Given the description of an element on the screen output the (x, y) to click on. 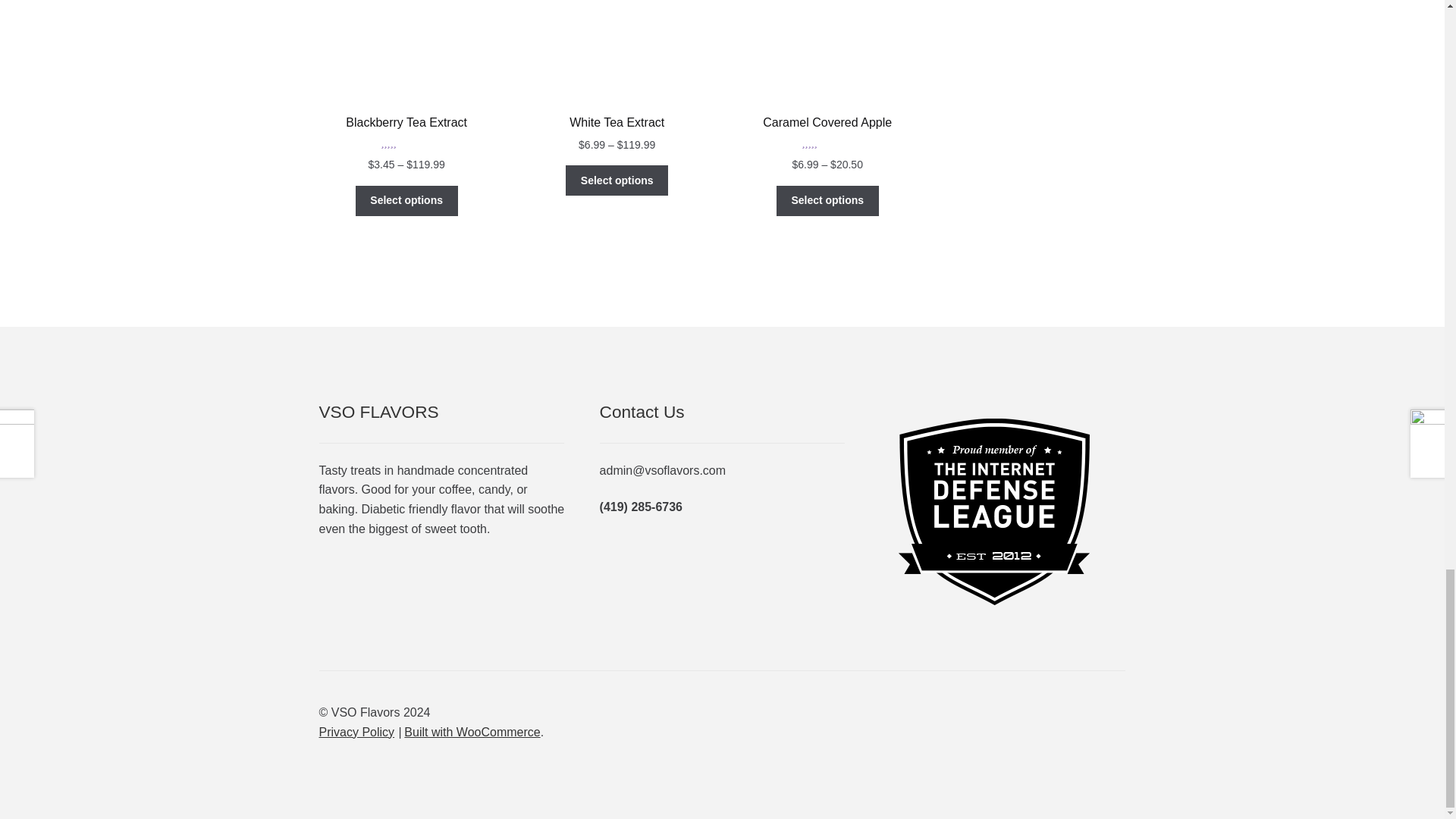
WooCommerce - The Best eCommerce Platform for WordPress (472, 731)
Select options (617, 180)
Select options (406, 200)
